Given the description of an element on the screen output the (x, y) to click on. 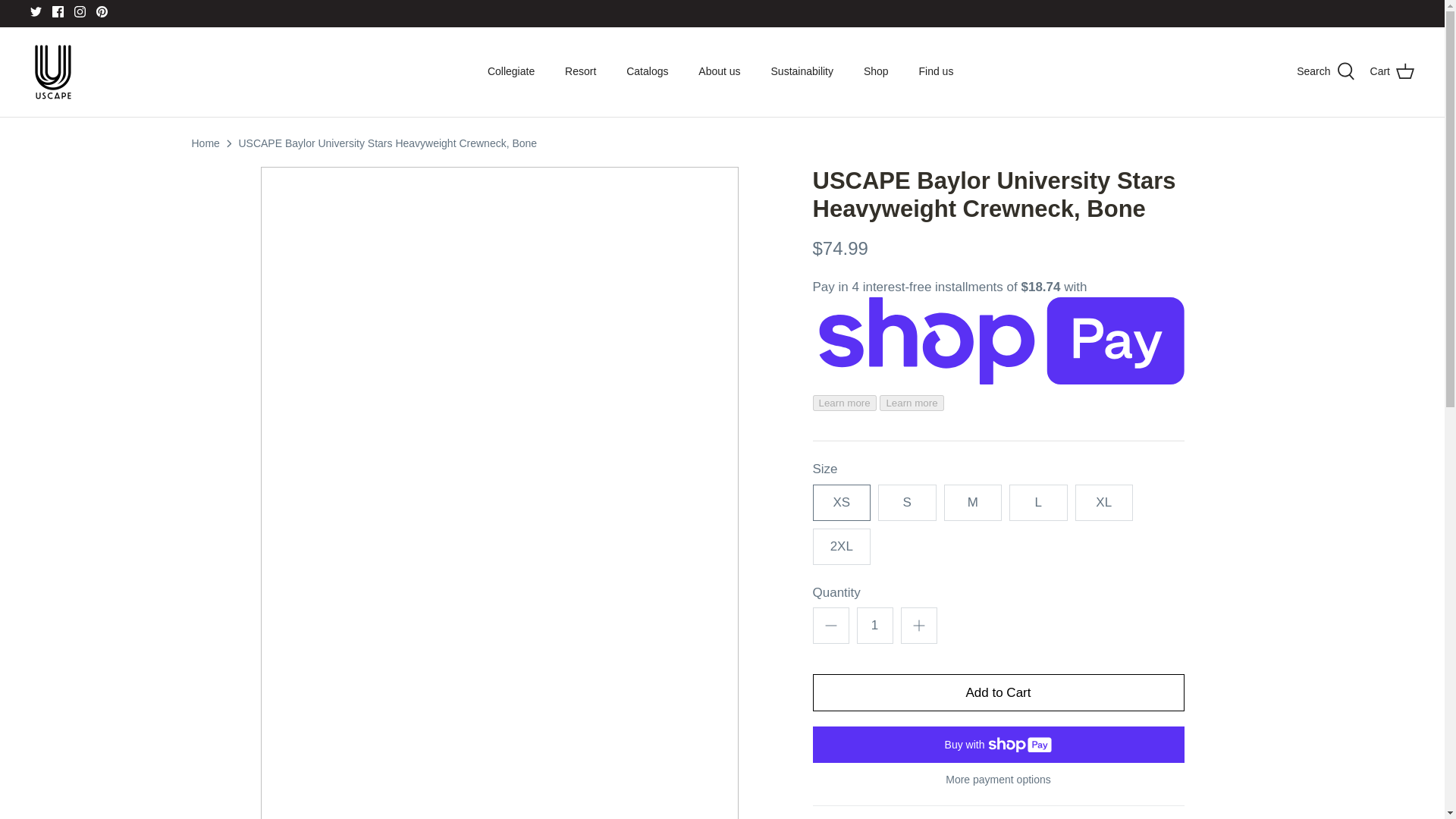
Cart (1391, 71)
Resort (580, 71)
Find us (936, 71)
Pinterest (101, 11)
Catalogs (646, 71)
Facebook (58, 11)
Sustainability (802, 71)
Collegiate (511, 71)
Search (1325, 71)
Instagram (79, 11)
